Given the description of an element on the screen output the (x, y) to click on. 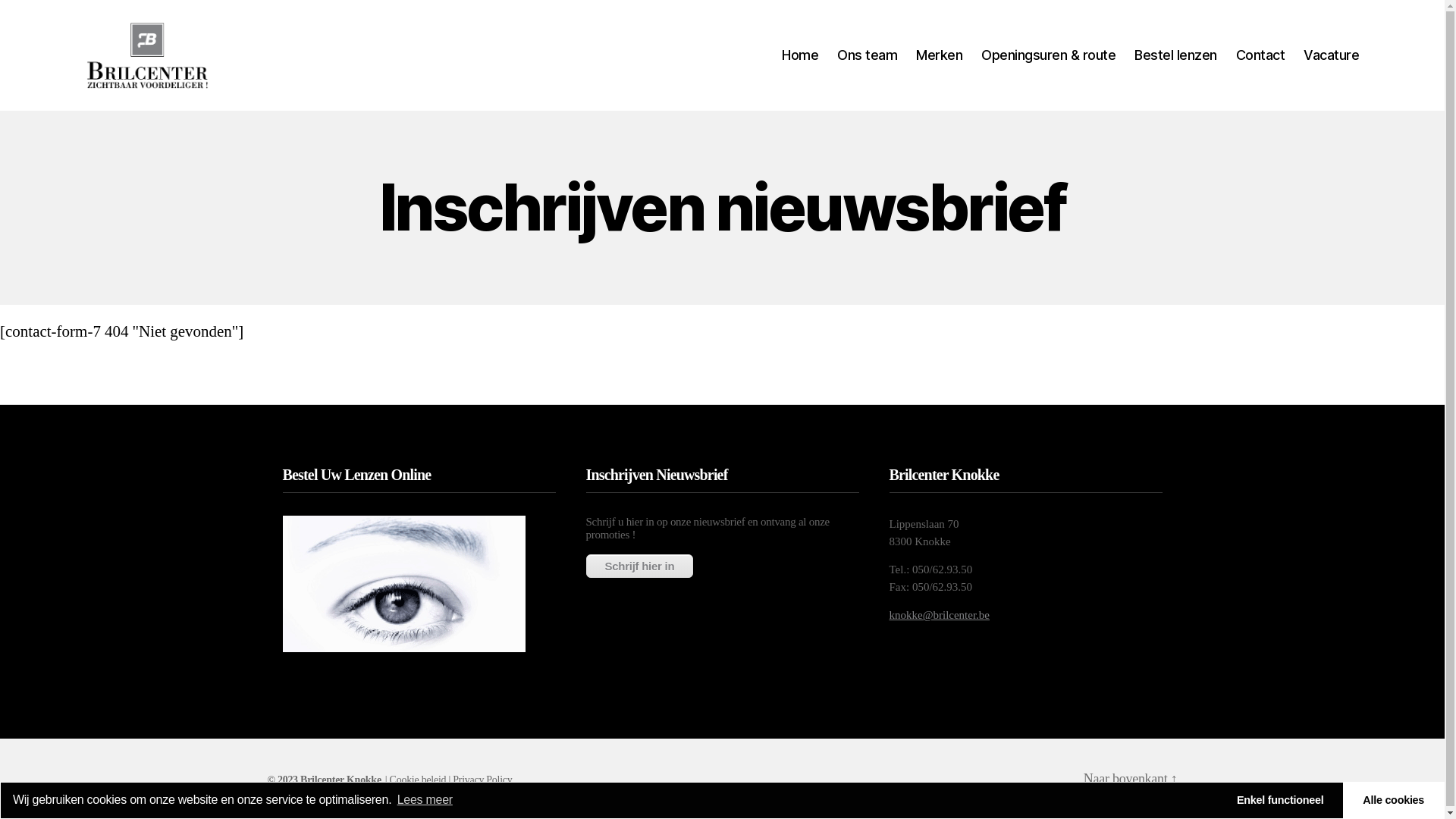
Privacy Policy Element type: text (481, 779)
Brilcenter Knokke Element type: text (340, 779)
Enkel functioneel Element type: text (1280, 800)
Lees meer Element type: text (422, 799)
Alle cookies Element type: text (1393, 800)
Openingsuren & route Element type: text (1048, 55)
knokke@brilcenter.be Element type: text (938, 614)
Schrijf hier in Element type: text (639, 565)
Ons team Element type: text (867, 55)
Bestel lenzen Element type: text (1175, 55)
Vacature Element type: text (1330, 55)
Merken Element type: text (939, 55)
Cookie beleid Element type: text (417, 779)
Contact Element type: text (1260, 55)
Home Element type: text (799, 55)
